Given the description of an element on the screen output the (x, y) to click on. 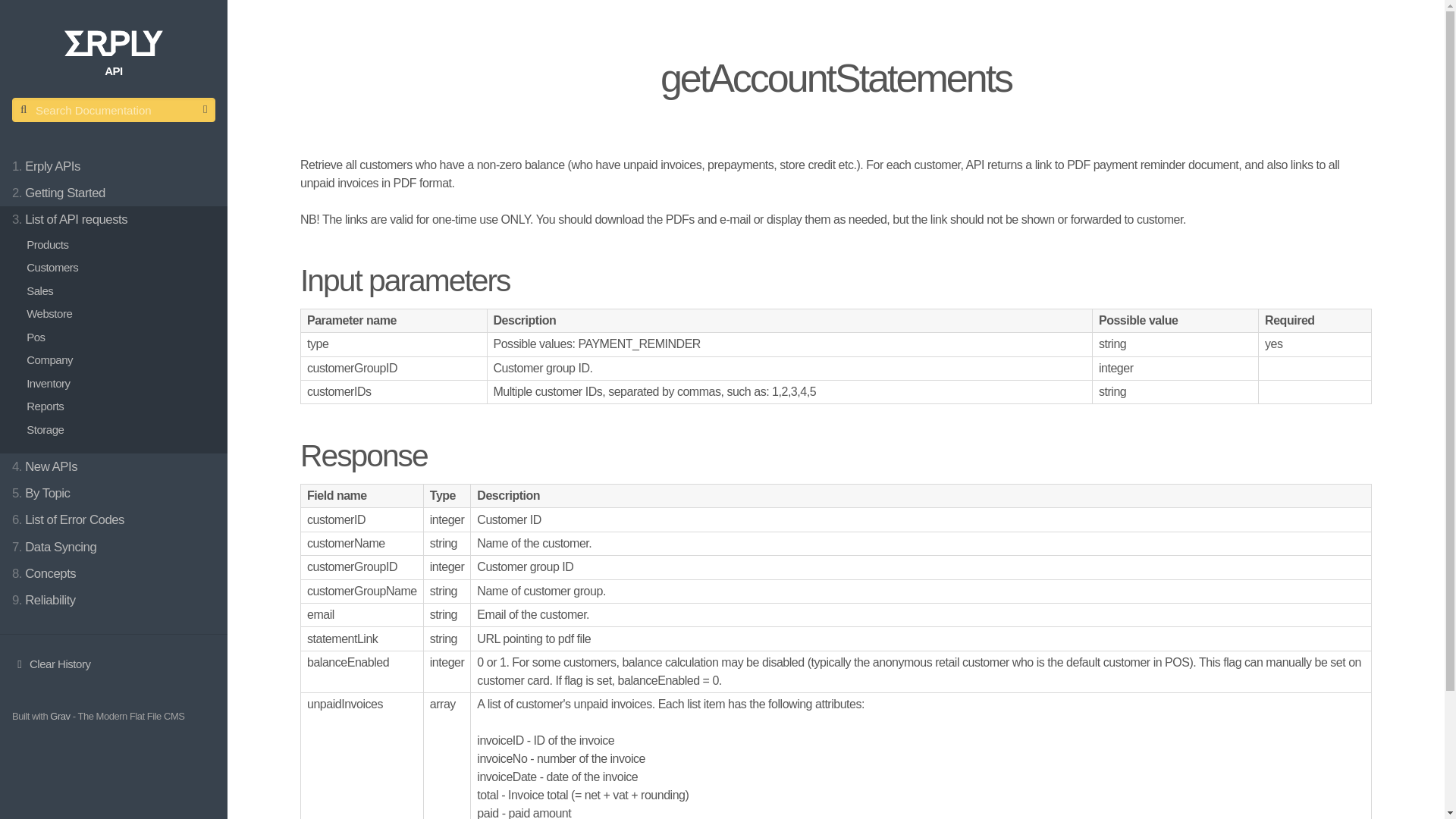
Inventory (119, 383)
Sales (119, 291)
Reports (119, 406)
2. Getting Started (113, 192)
Storage (119, 430)
3. List of API requests (113, 219)
5. By Topic (113, 492)
1. Erply APIs (113, 166)
6. List of Error Codes (113, 519)
Customers (119, 268)
